Given the description of an element on the screen output the (x, y) to click on. 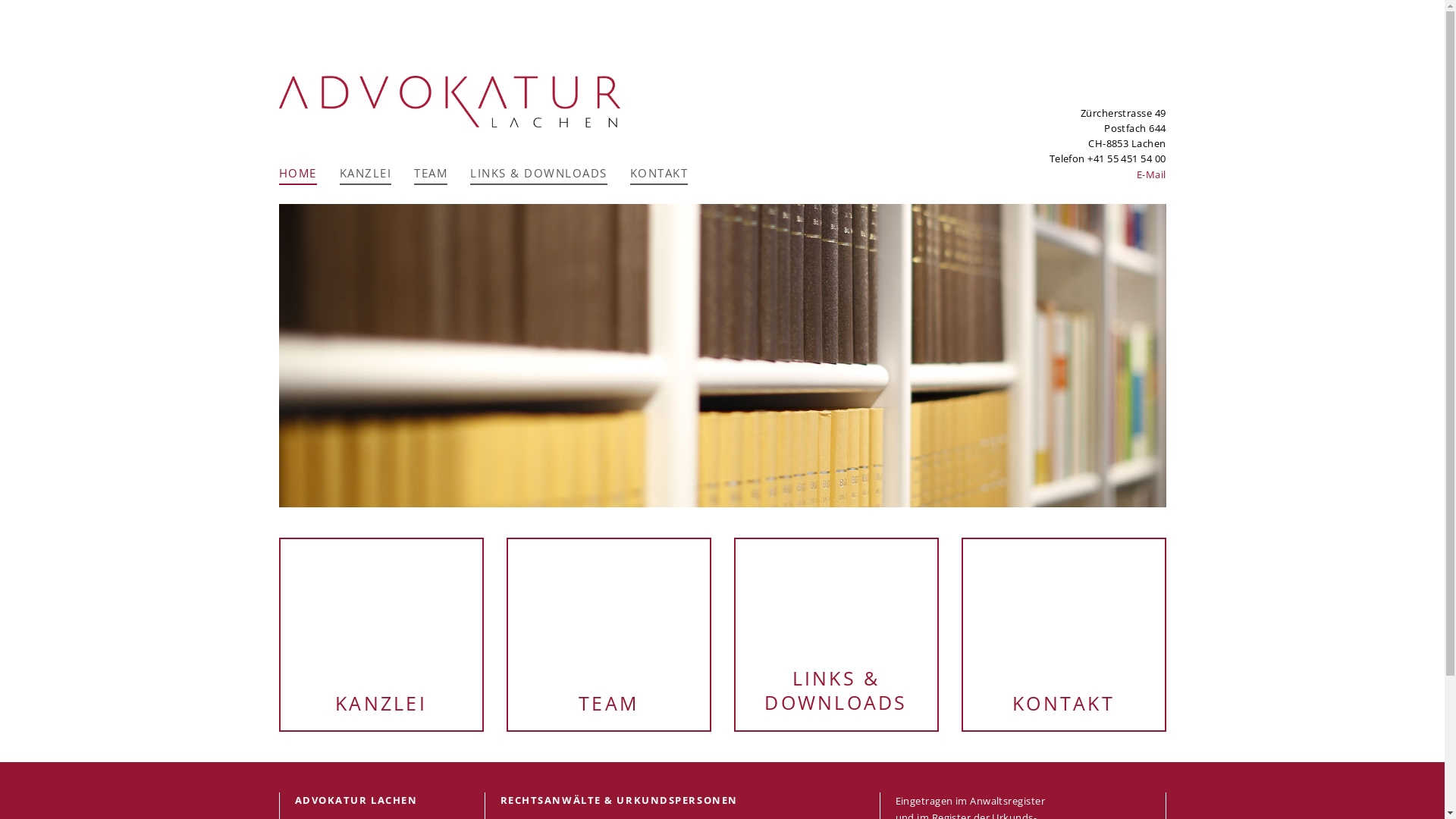
LINKS & DOWNLOADS Element type: text (836, 633)
HOME Element type: text (297, 175)
TEAM Element type: text (430, 175)
E-Mail Element type: text (1151, 174)
KANZLEI Element type: text (381, 634)
LINKS & DOWNLOADS Element type: text (538, 175)
KANZLEI Element type: text (365, 175)
KONTAKT Element type: text (658, 175)
KONTAKT Element type: text (1063, 634)
TEAM Element type: text (608, 634)
